Given the description of an element on the screen output the (x, y) to click on. 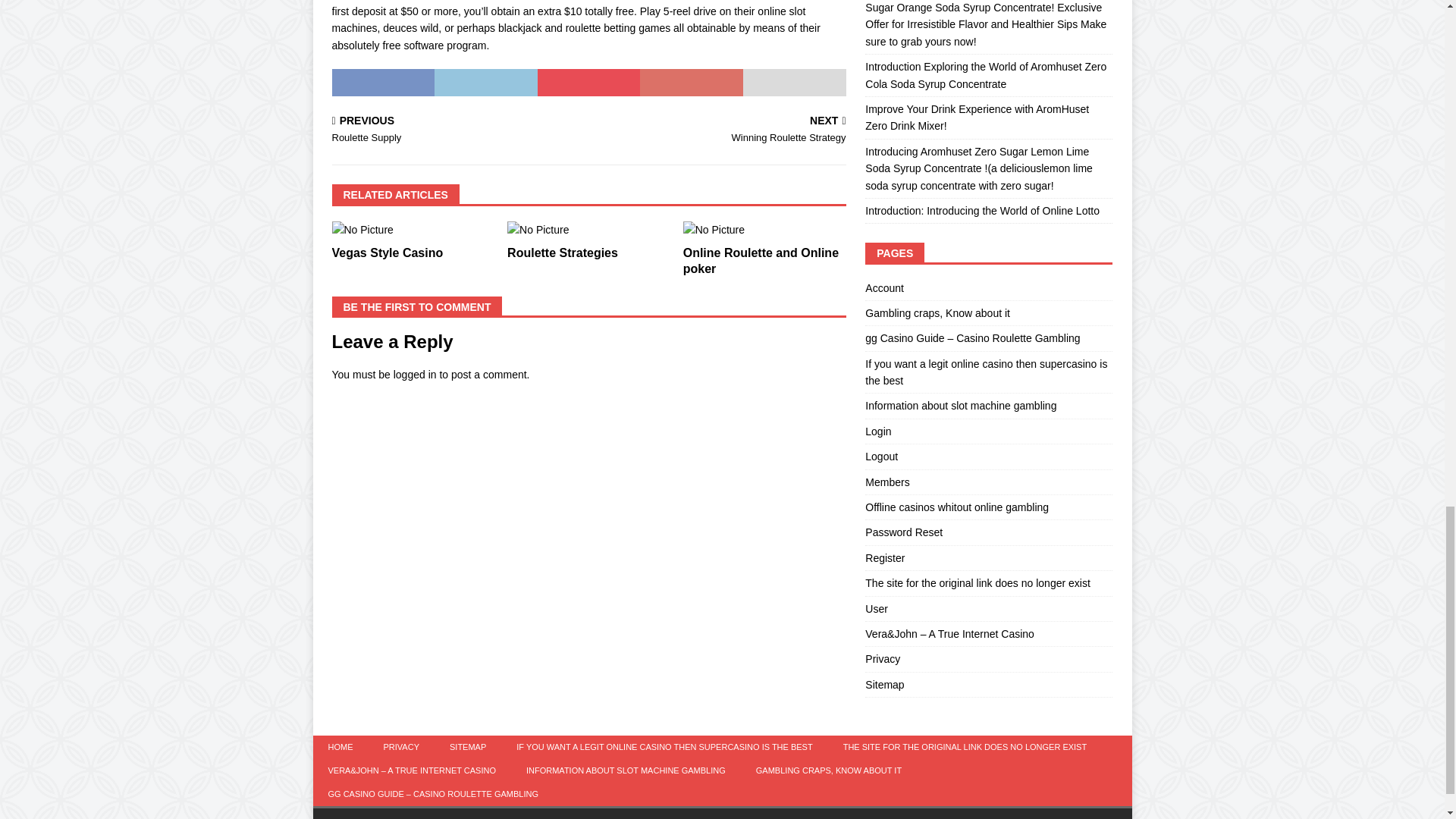
Roulette Strategies (720, 130)
Vegas Style Casino (457, 130)
